Given the description of an element on the screen output the (x, y) to click on. 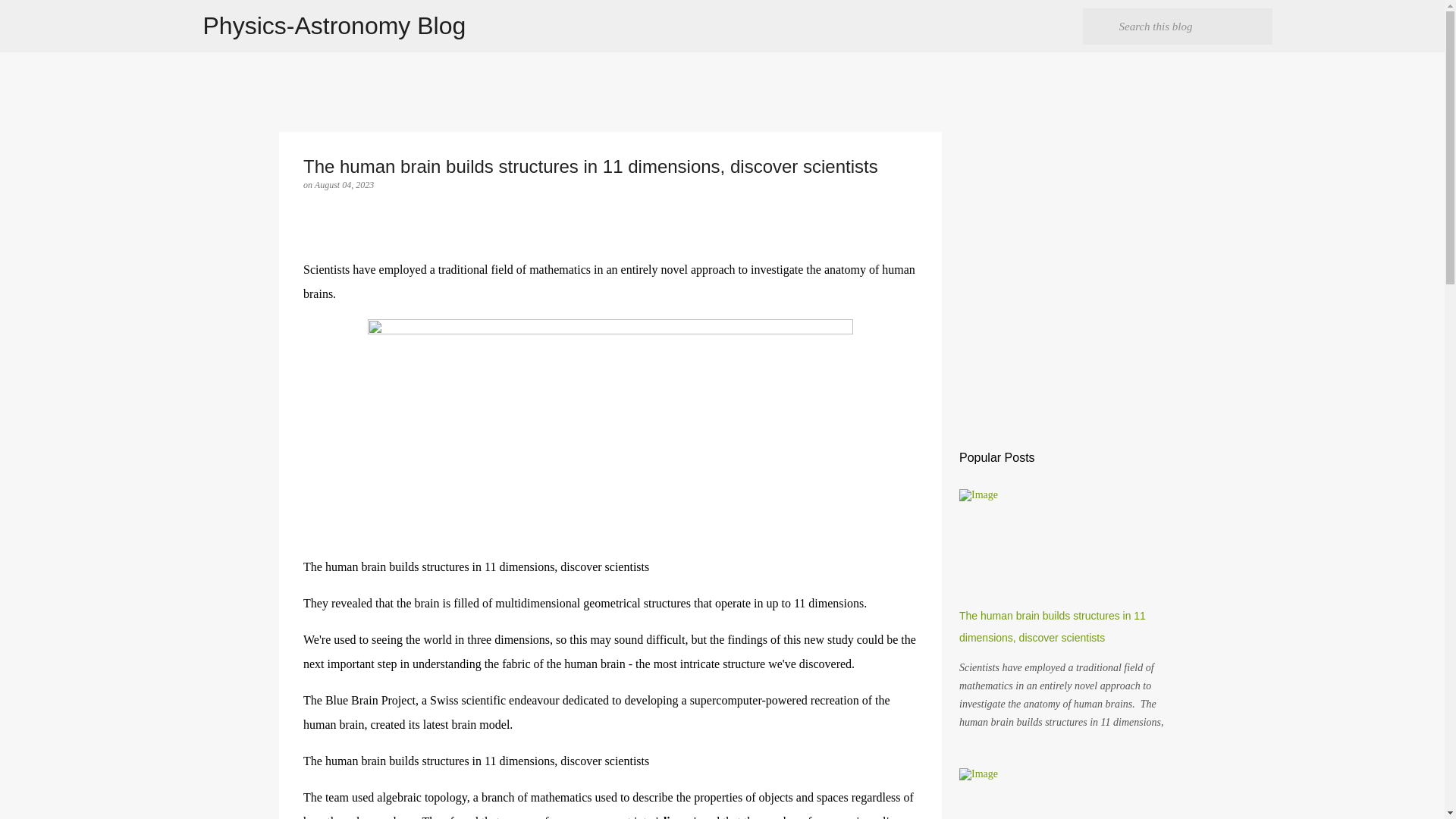
Physics-Astronomy Blog (334, 25)
August 04, 2023 (344, 184)
permanent link (344, 184)
